Given the description of an element on the screen output the (x, y) to click on. 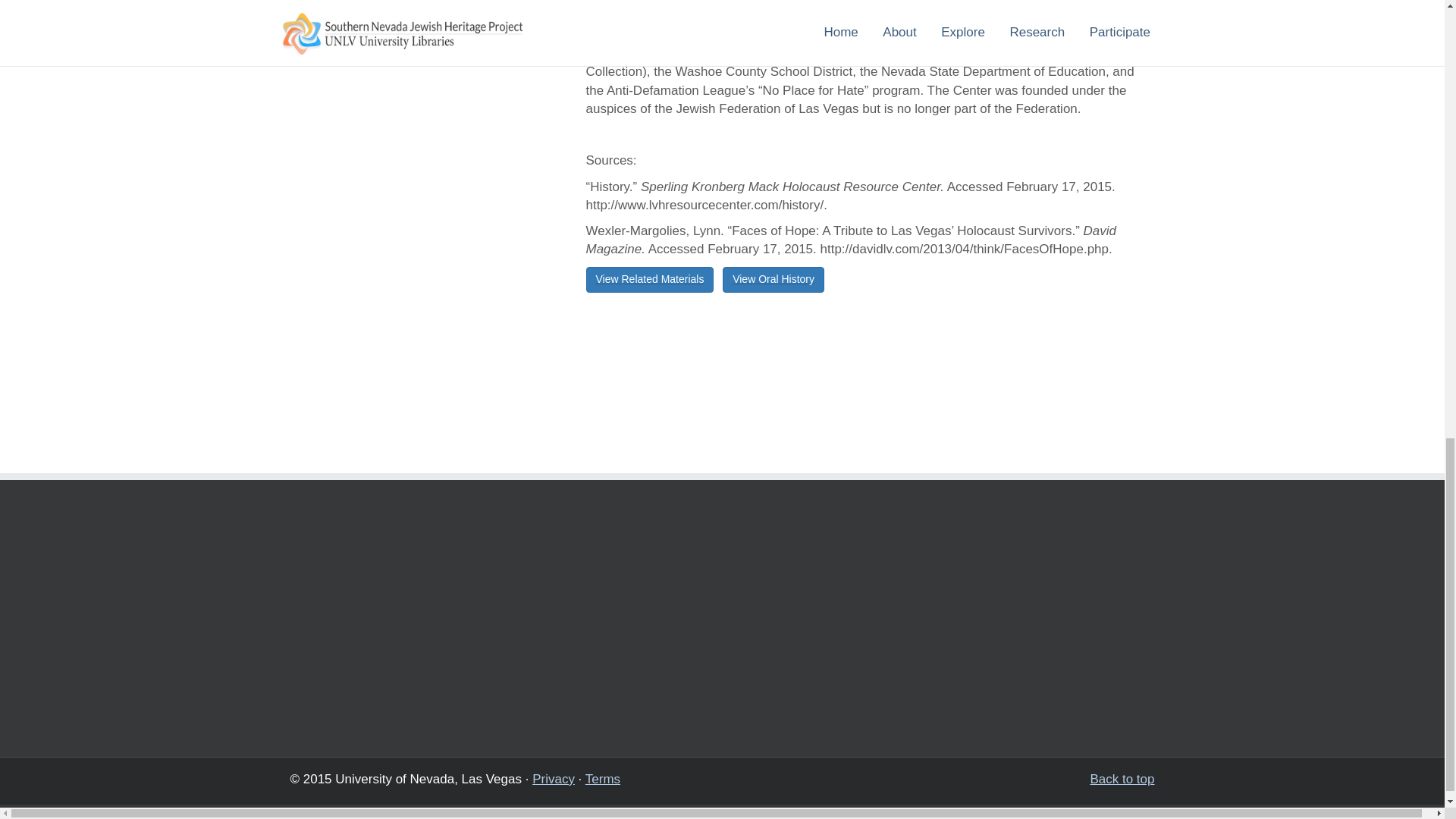
View Related Materials (649, 279)
Terms (602, 779)
Privacy (553, 779)
View Oral History (773, 279)
View Oral History (773, 279)
Back to top (1121, 779)
View Related Materials (649, 279)
